Given the description of an element on the screen output the (x, y) to click on. 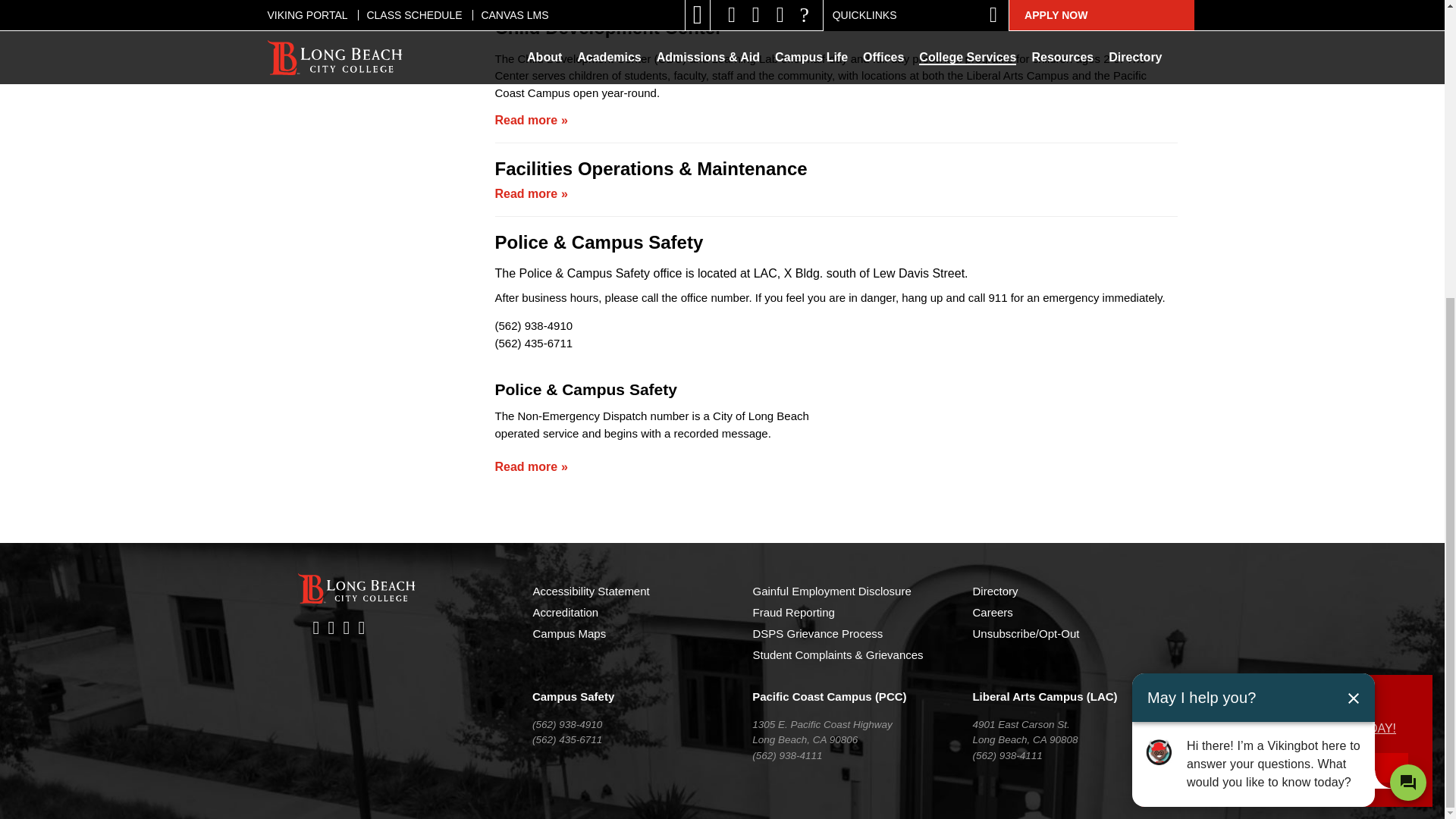
Got it! (1286, 306)
APPLY TODAY! (1353, 267)
